Given the description of an element on the screen output the (x, y) to click on. 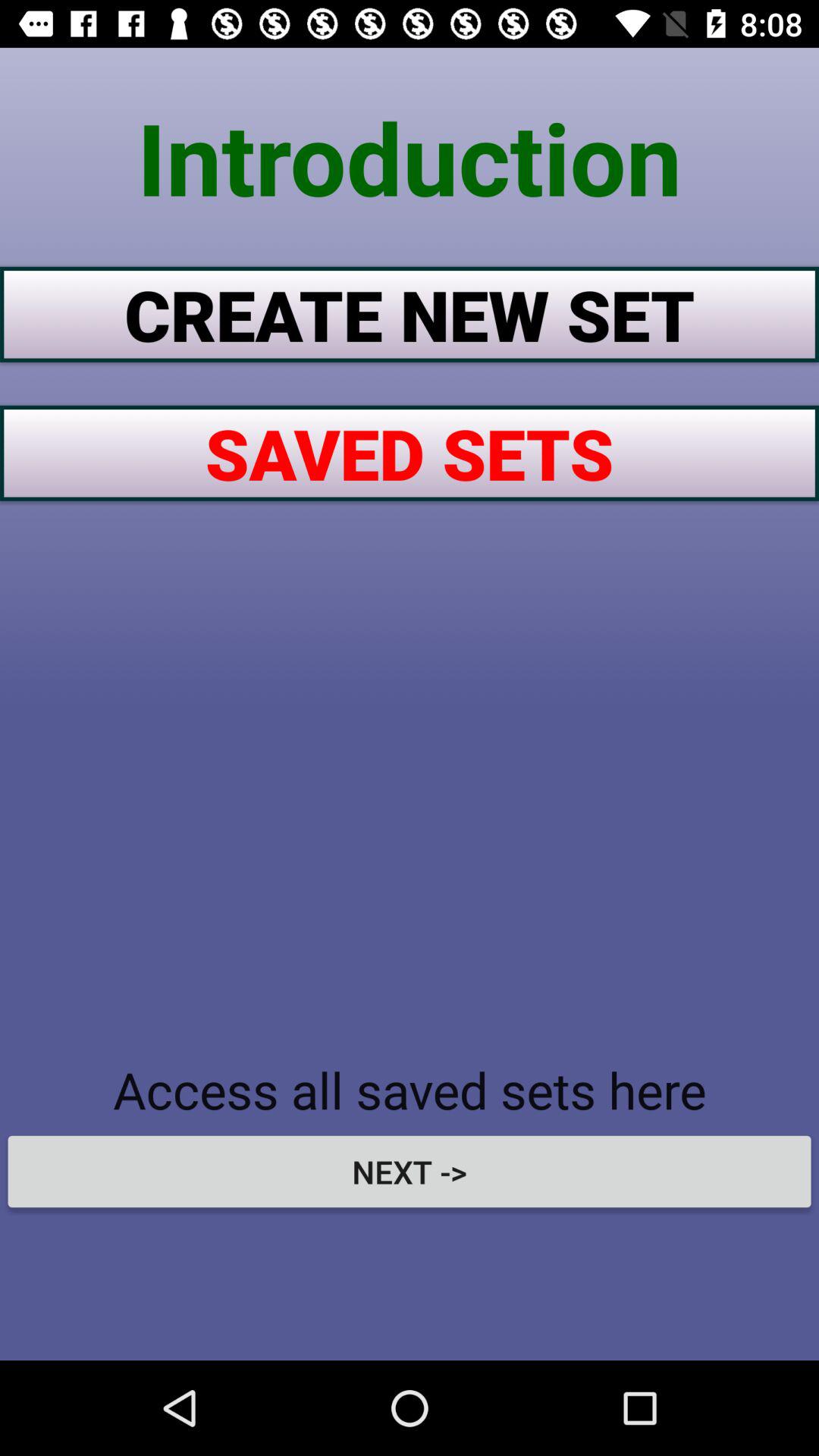
tap the item below introduction icon (409, 314)
